Given the description of an element on the screen output the (x, y) to click on. 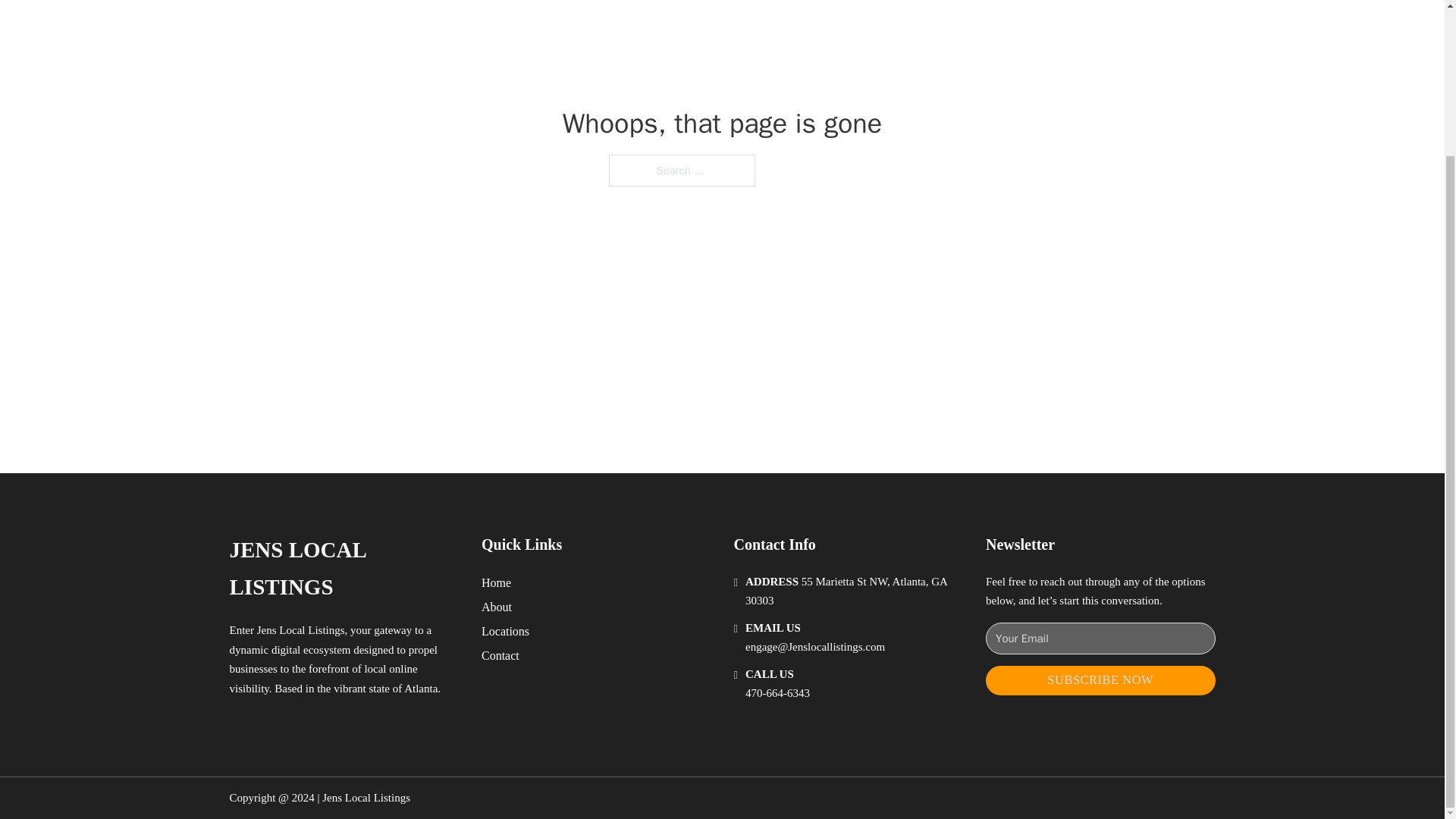
Contact (500, 655)
About (496, 607)
Locations (505, 630)
JENS LOCAL LISTINGS (343, 568)
Home (496, 582)
470-664-6343 (777, 693)
SUBSCRIBE NOW (1100, 680)
